Given the description of an element on the screen output the (x, y) to click on. 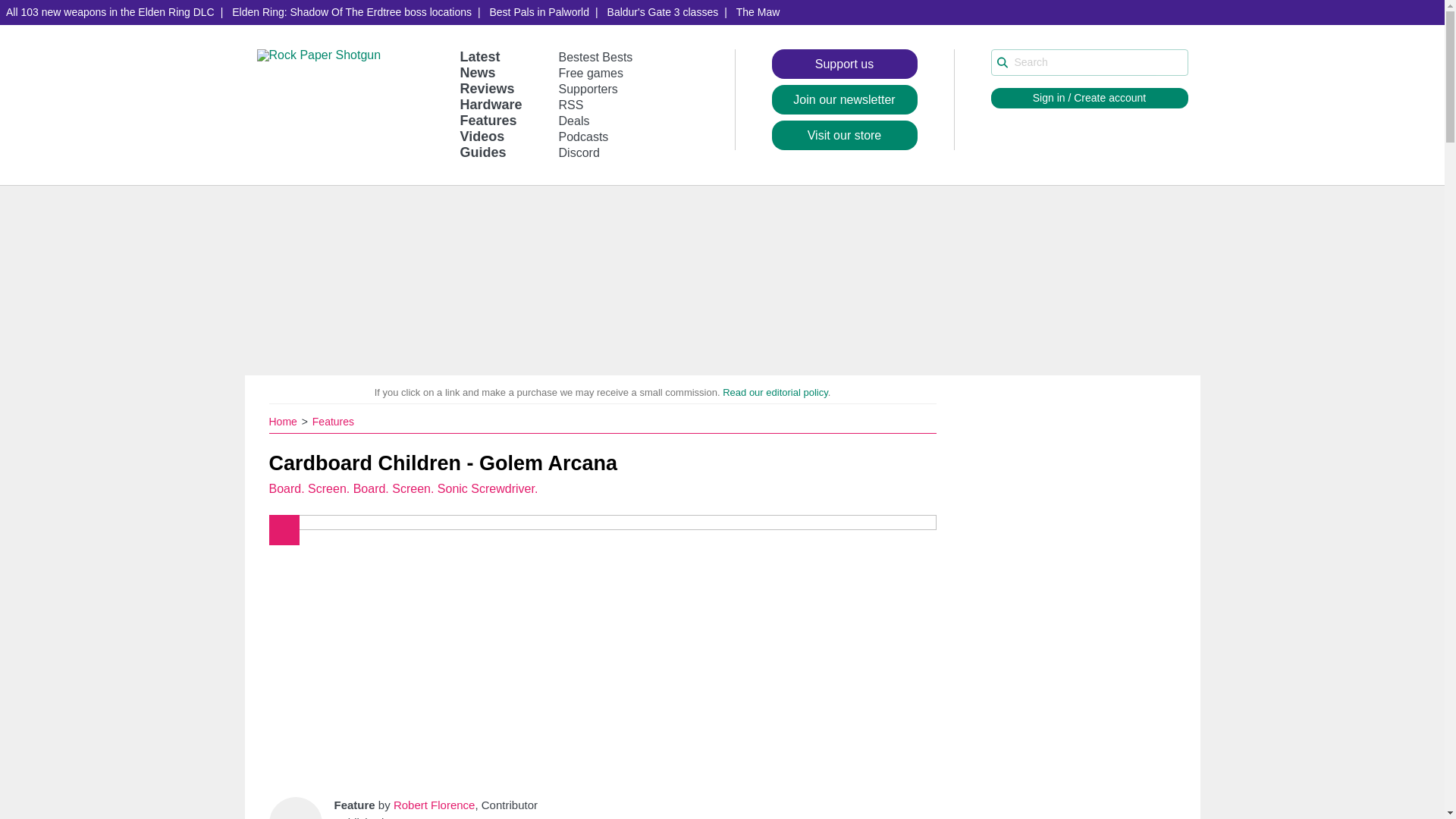
Home (283, 421)
Deals (574, 120)
Read our editorial policy (775, 392)
Home (283, 421)
Guides (482, 151)
News (477, 72)
All 103 new weapons in the Elden Ring DLC (110, 12)
All 103 new weapons in the Elden Ring DLC (110, 12)
Support us (844, 63)
Best Pals in Palworld (539, 12)
Guides (482, 151)
Deals (574, 120)
Supporters (588, 88)
Latest (479, 56)
Join our newsletter (844, 99)
